Given the description of an element on the screen output the (x, y) to click on. 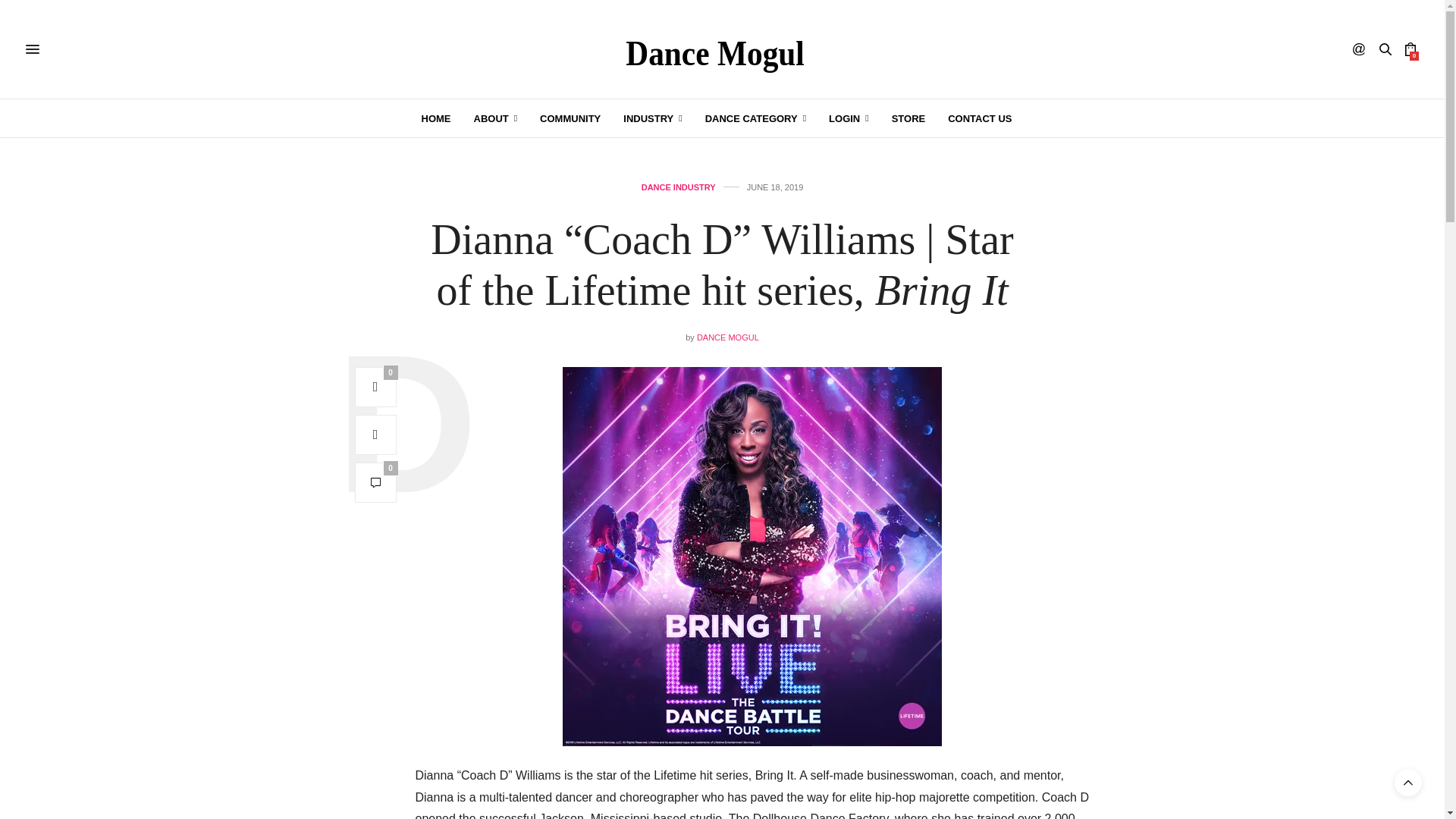
Posts by Dance Mogul (727, 337)
Dance Mogul Magazine (722, 49)
